Given the description of an element on the screen output the (x, y) to click on. 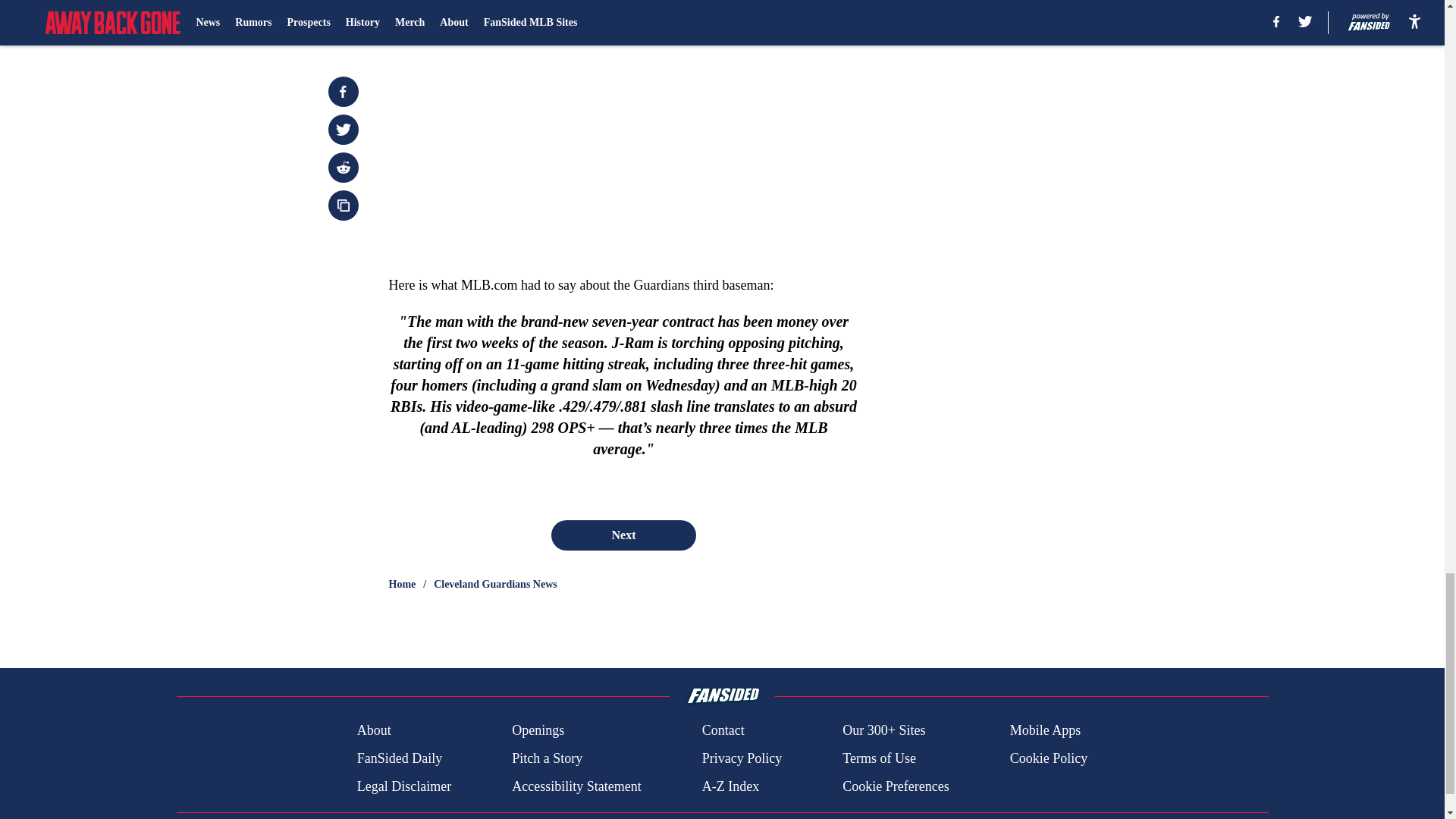
Mobile Apps (1045, 730)
Cleveland Guardians News (495, 584)
Cookie Policy (1048, 758)
Pitch a Story (547, 758)
Openings (538, 730)
Accessibility Statement (576, 786)
Legal Disclaimer (403, 786)
About (373, 730)
A-Z Index (729, 786)
Privacy Policy (742, 758)
